Given the description of an element on the screen output the (x, y) to click on. 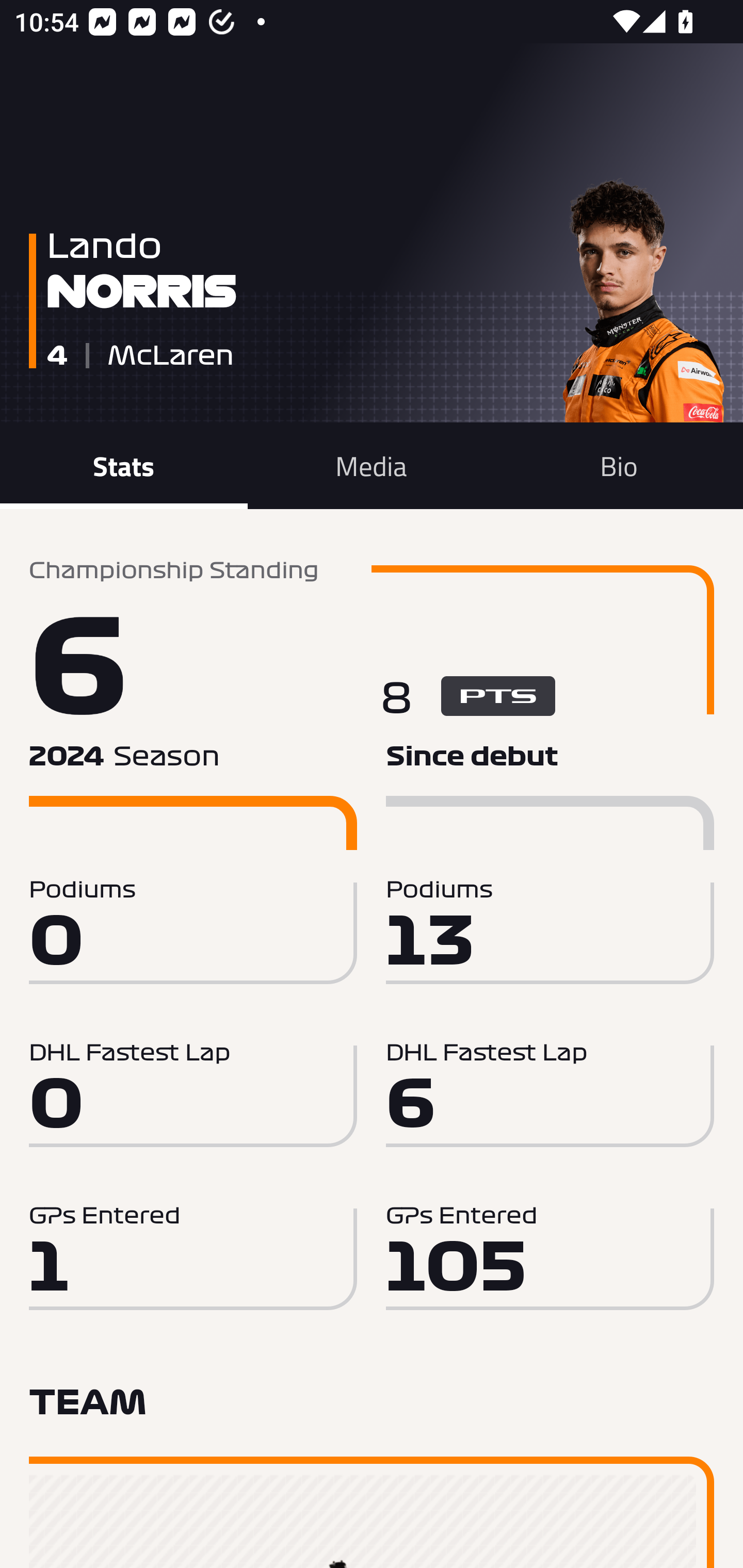
Media (371, 465)
Bio (619, 465)
